Given the description of an element on the screen output the (x, y) to click on. 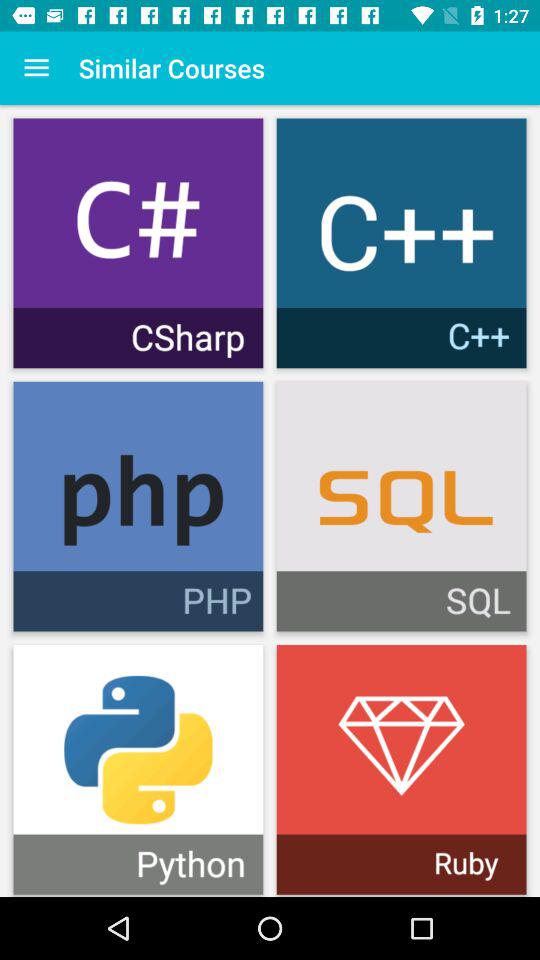
turn on the icon to the left of the similar courses item (36, 68)
